Given the description of an element on the screen output the (x, y) to click on. 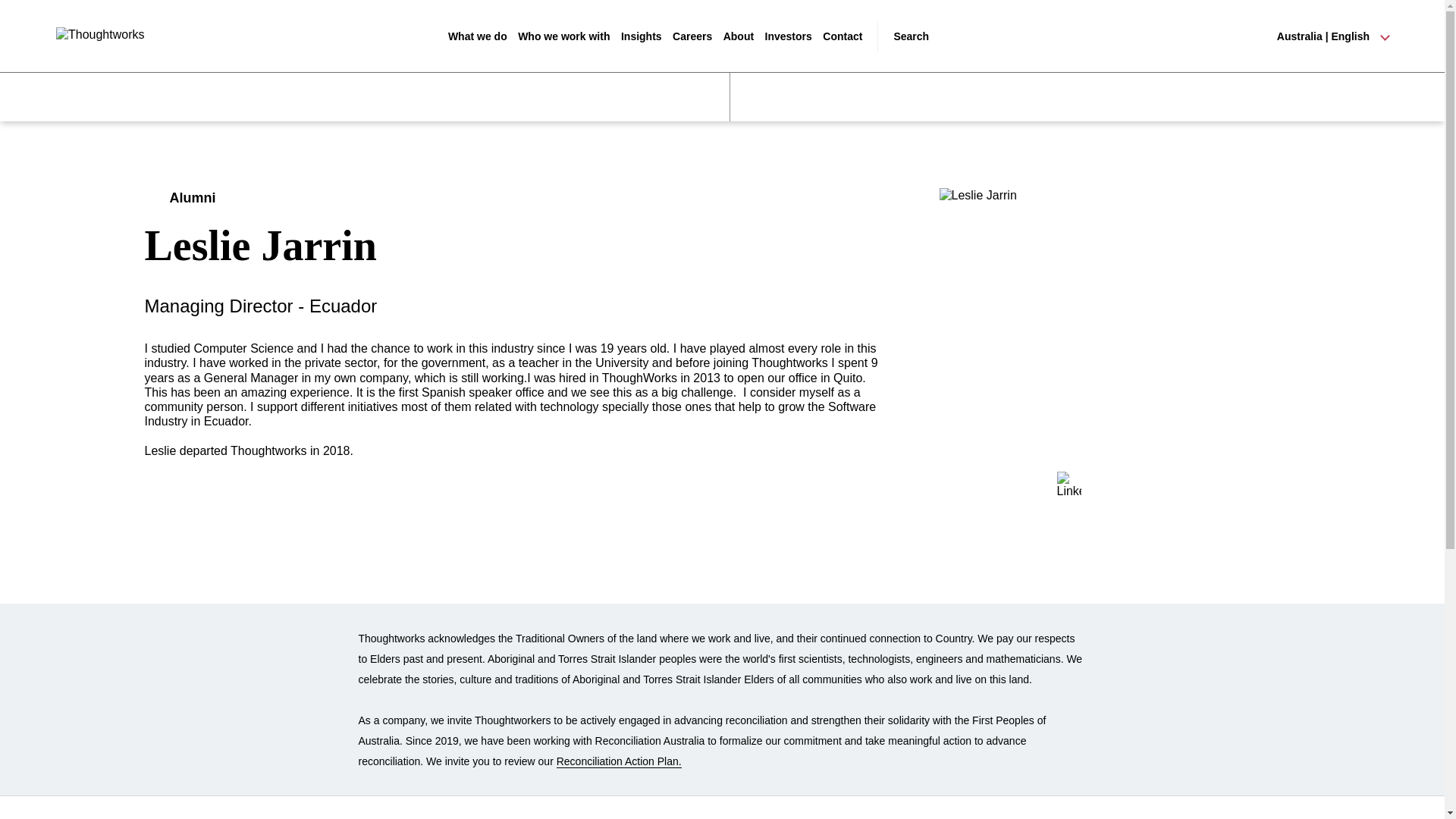
What we do (477, 36)
Careers (691, 36)
Who we work with (564, 36)
Who we work with (564, 36)
Insights (641, 36)
Careers (691, 36)
Insights (641, 36)
Thoughtworks (107, 36)
Thoughtworks (107, 36)
What we do (477, 36)
